Given the description of an element on the screen output the (x, y) to click on. 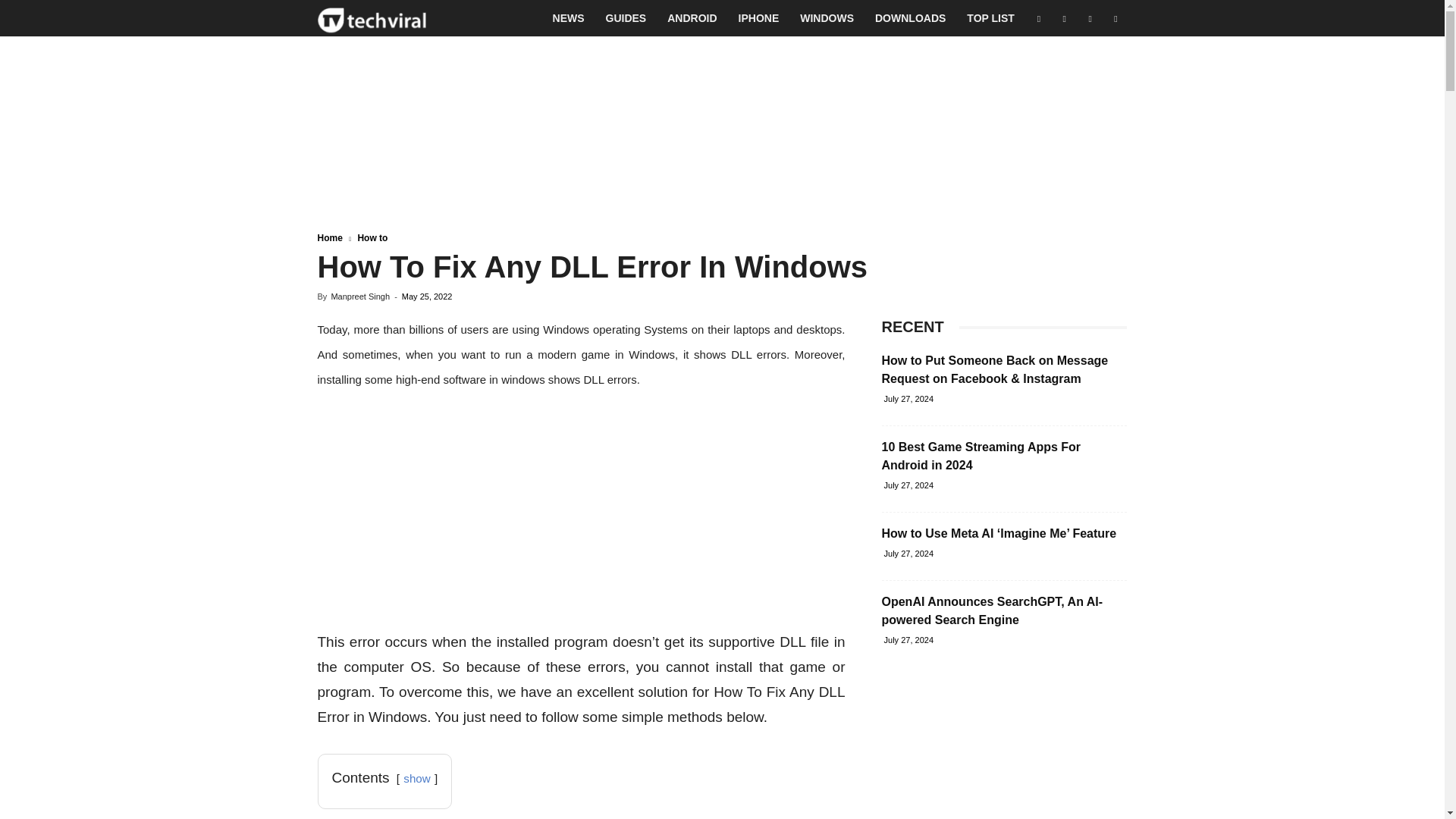
Home (329, 237)
TOP LIST (990, 18)
Manpreet Singh (360, 296)
ANDROID (691, 18)
TechViral (371, 18)
IPHONE (759, 18)
show (416, 778)
GUIDES (626, 18)
NEWS (568, 18)
Tech Viral (371, 18)
WINDOWS (826, 18)
DOWNLOADS (910, 18)
